Given the description of an element on the screen output the (x, y) to click on. 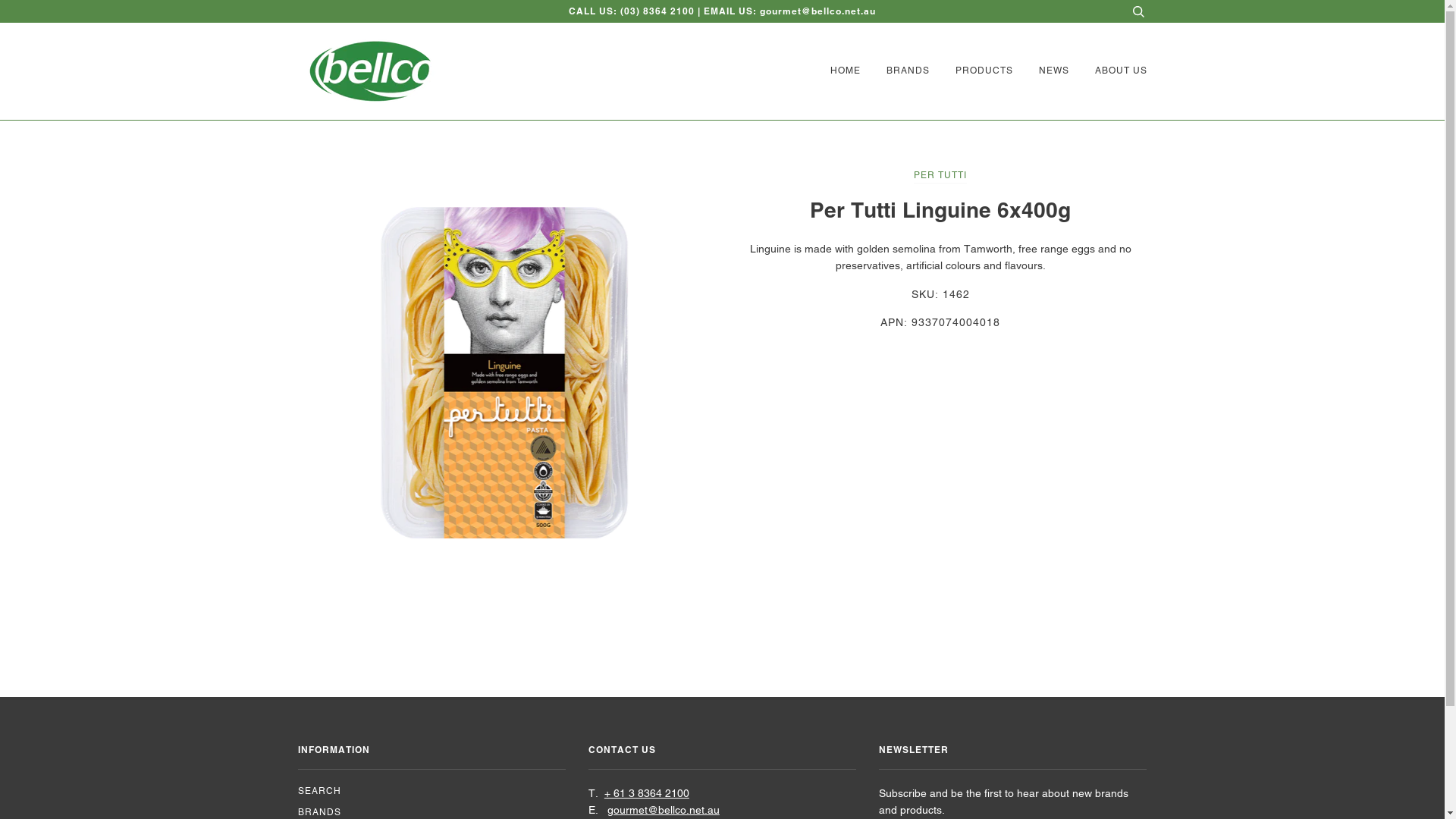
HOME Element type: text (840, 71)
NEWS Element type: text (1042, 71)
BRANDS Element type: text (895, 71)
gourmet@bellco.net.au Element type: text (663, 809)
PRODUCTS Element type: text (972, 71)
ABOUT US Element type: text (1109, 71)
BRANDS Element type: text (318, 811)
PER TUTTI Element type: text (939, 176)
CALL US: (03) 8364 2100 | EMAIL US: gourmet@bellco.net.au Element type: text (721, 10)
SEARCH Element type: text (318, 790)
+ 61 3 8364 2100 Element type: text (646, 793)
